Given the description of an element on the screen output the (x, y) to click on. 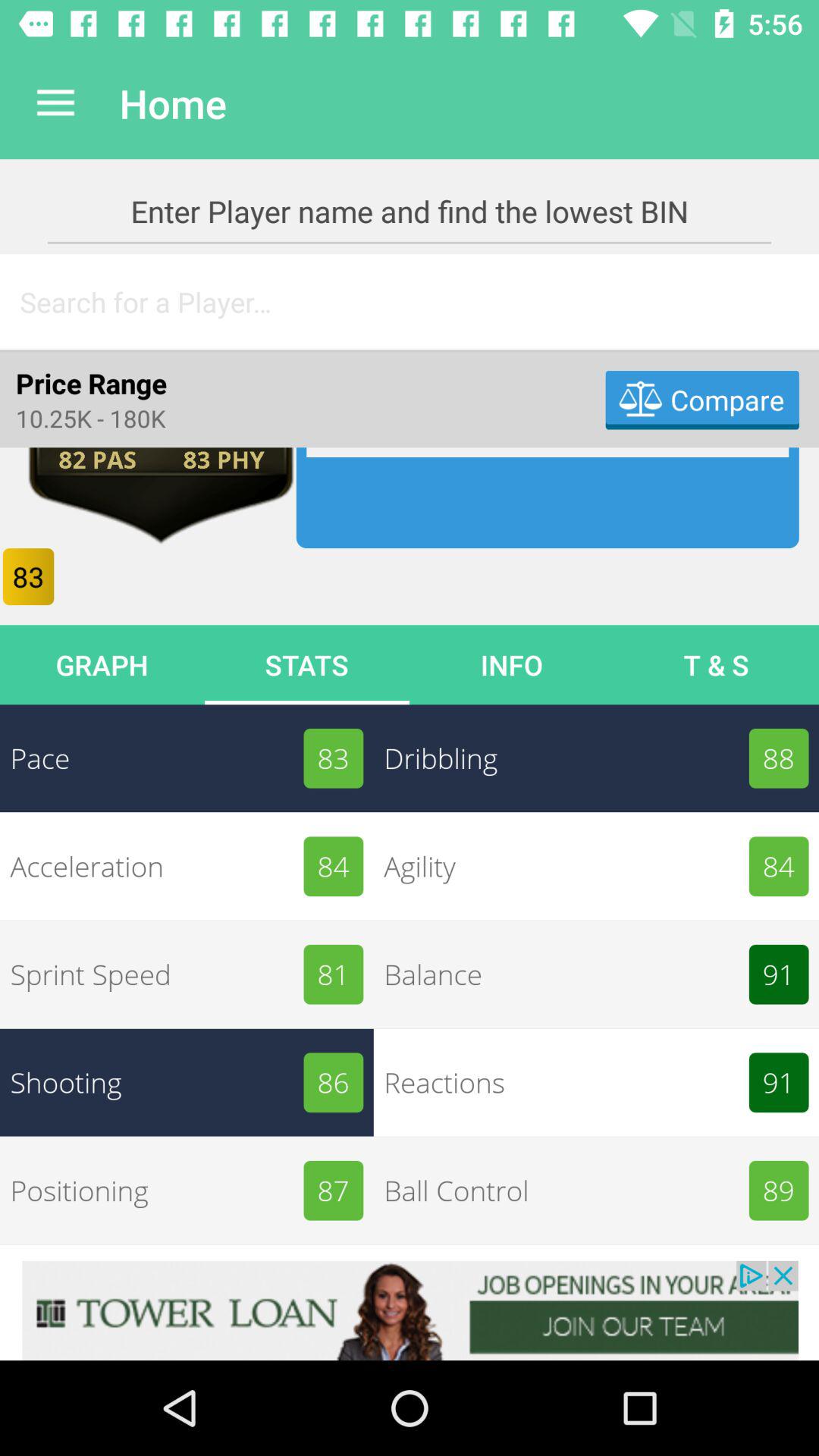
searching for someone (409, 301)
